Given the description of an element on the screen output the (x, y) to click on. 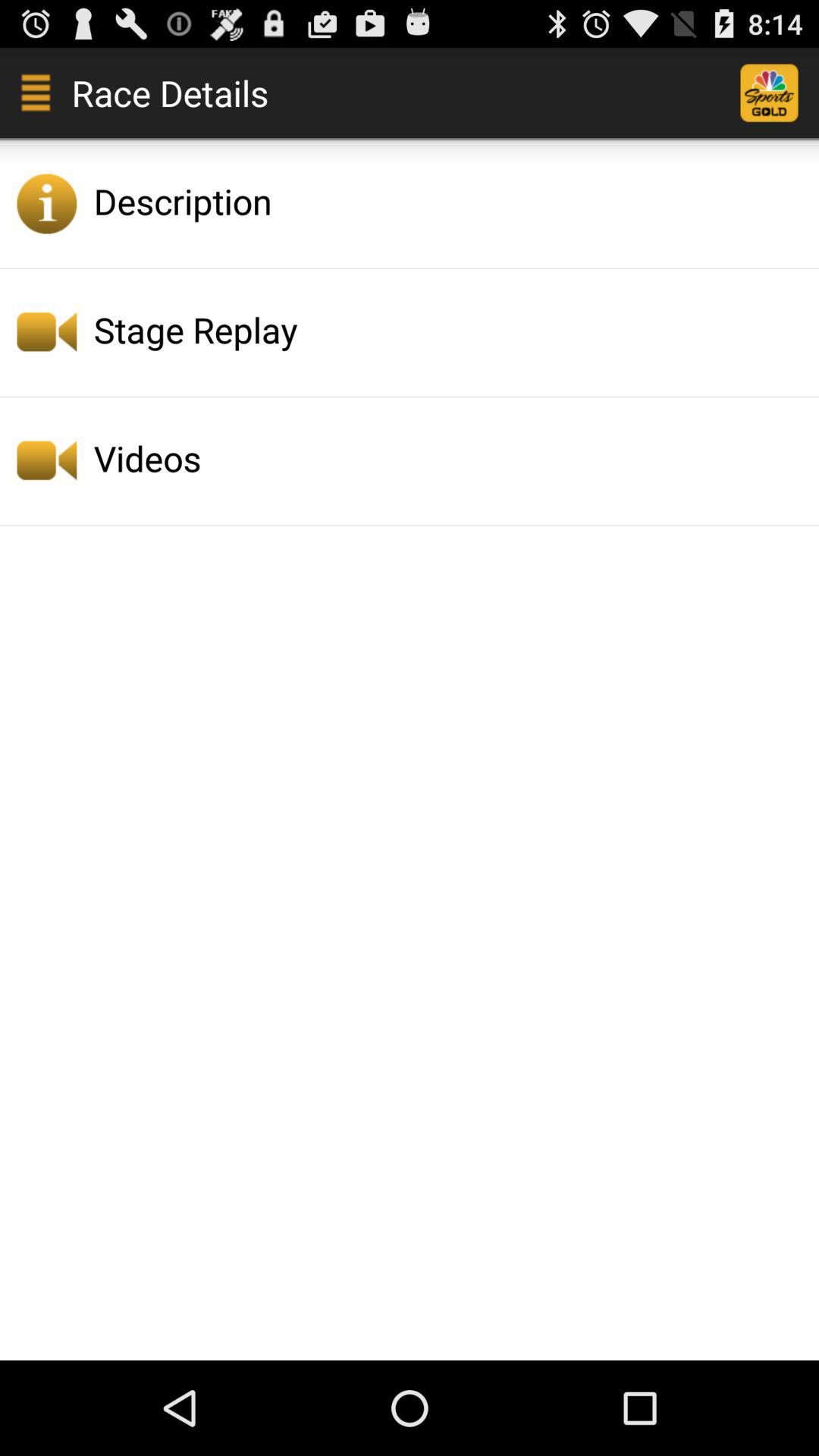
launch the icon below description icon (452, 329)
